Given the description of an element on the screen output the (x, y) to click on. 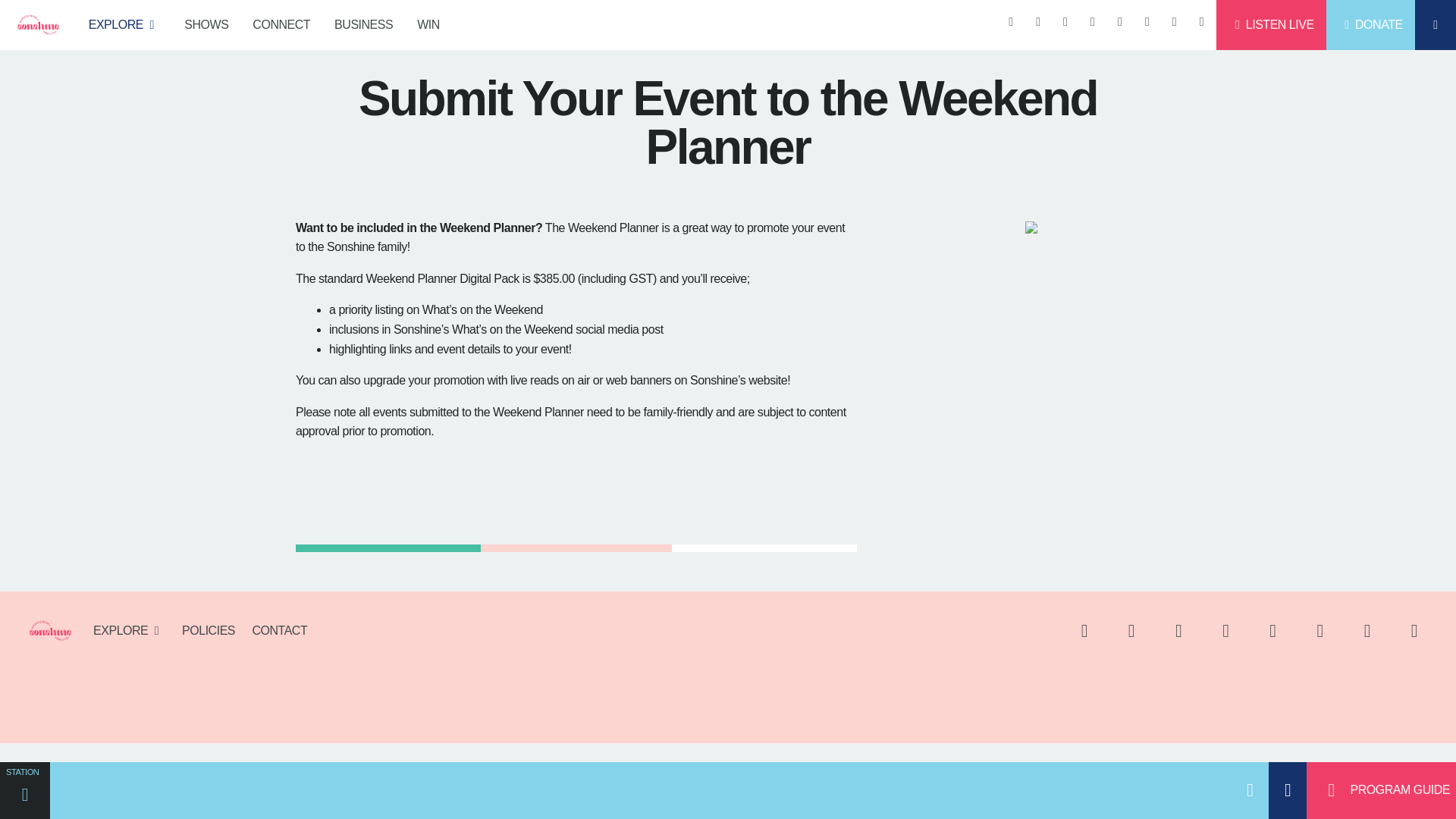
EXPLORE (125, 24)
LISTEN LIVE (1269, 24)
DONATE (1370, 24)
CONNECT (280, 24)
BUSINESS (362, 24)
